Given the description of an element on the screen output the (x, y) to click on. 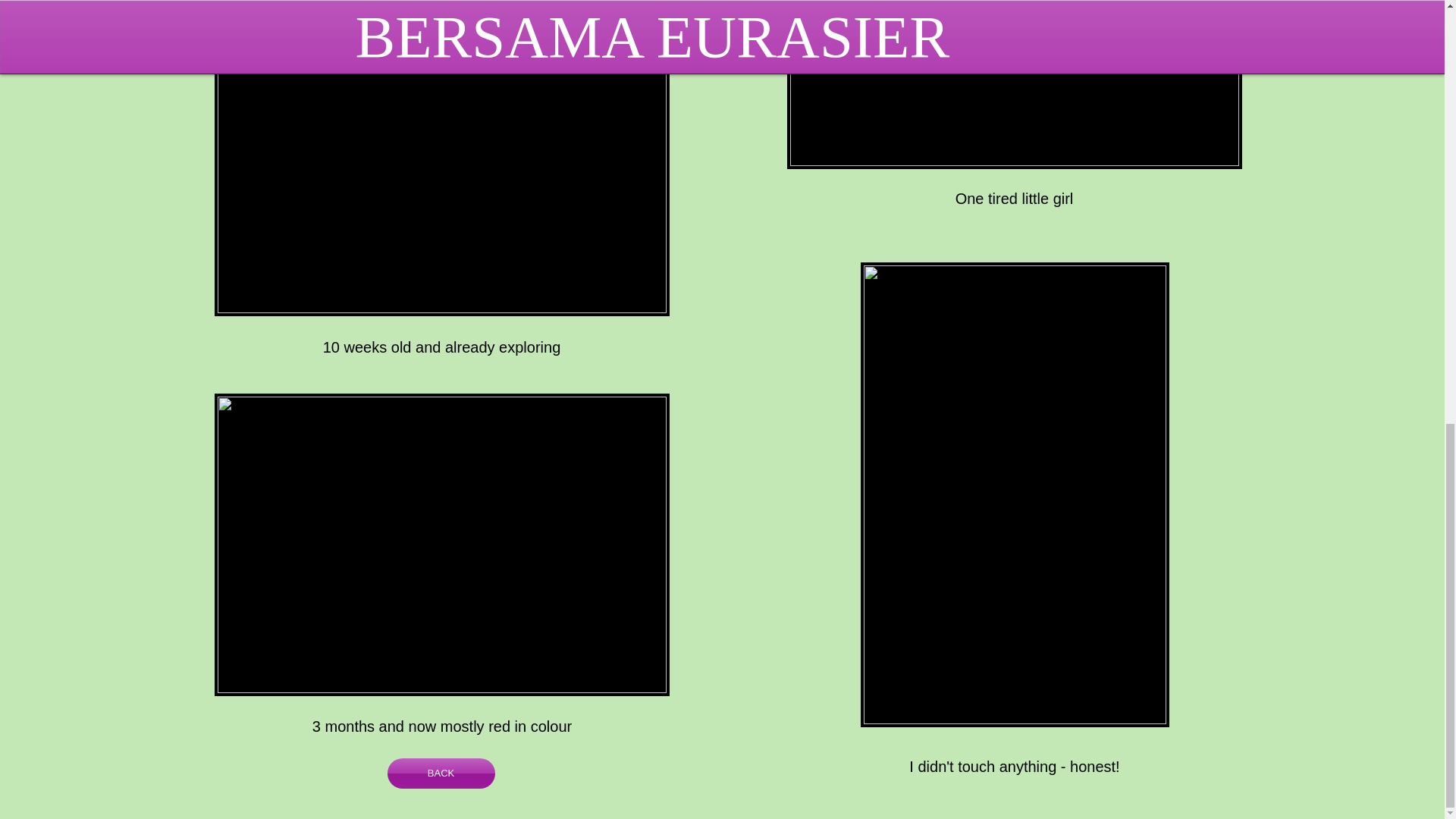
BACK (441, 773)
